Given the description of an element on the screen output the (x, y) to click on. 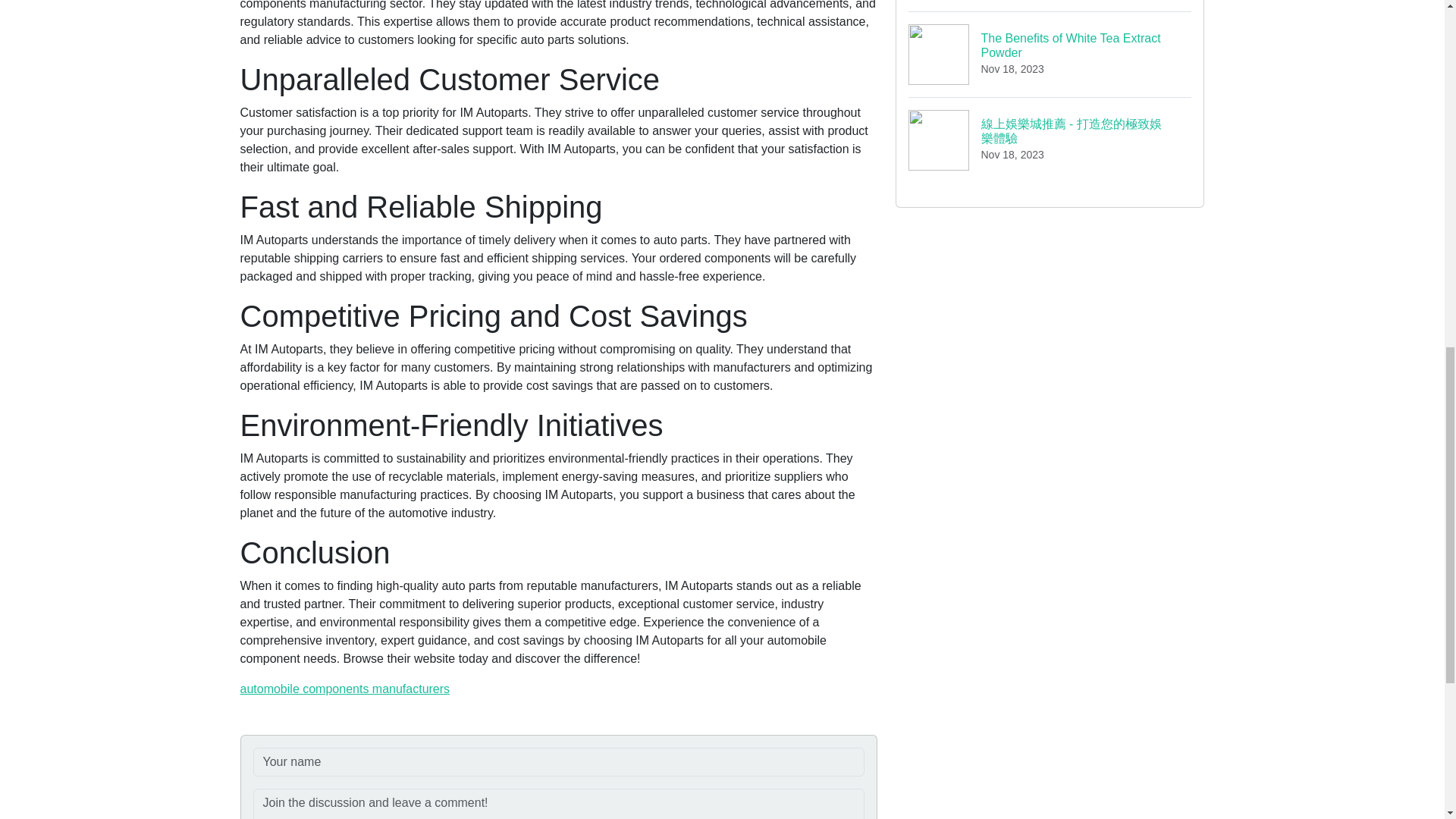
automobile components manufacturers (1050, 5)
